Given the description of an element on the screen output the (x, y) to click on. 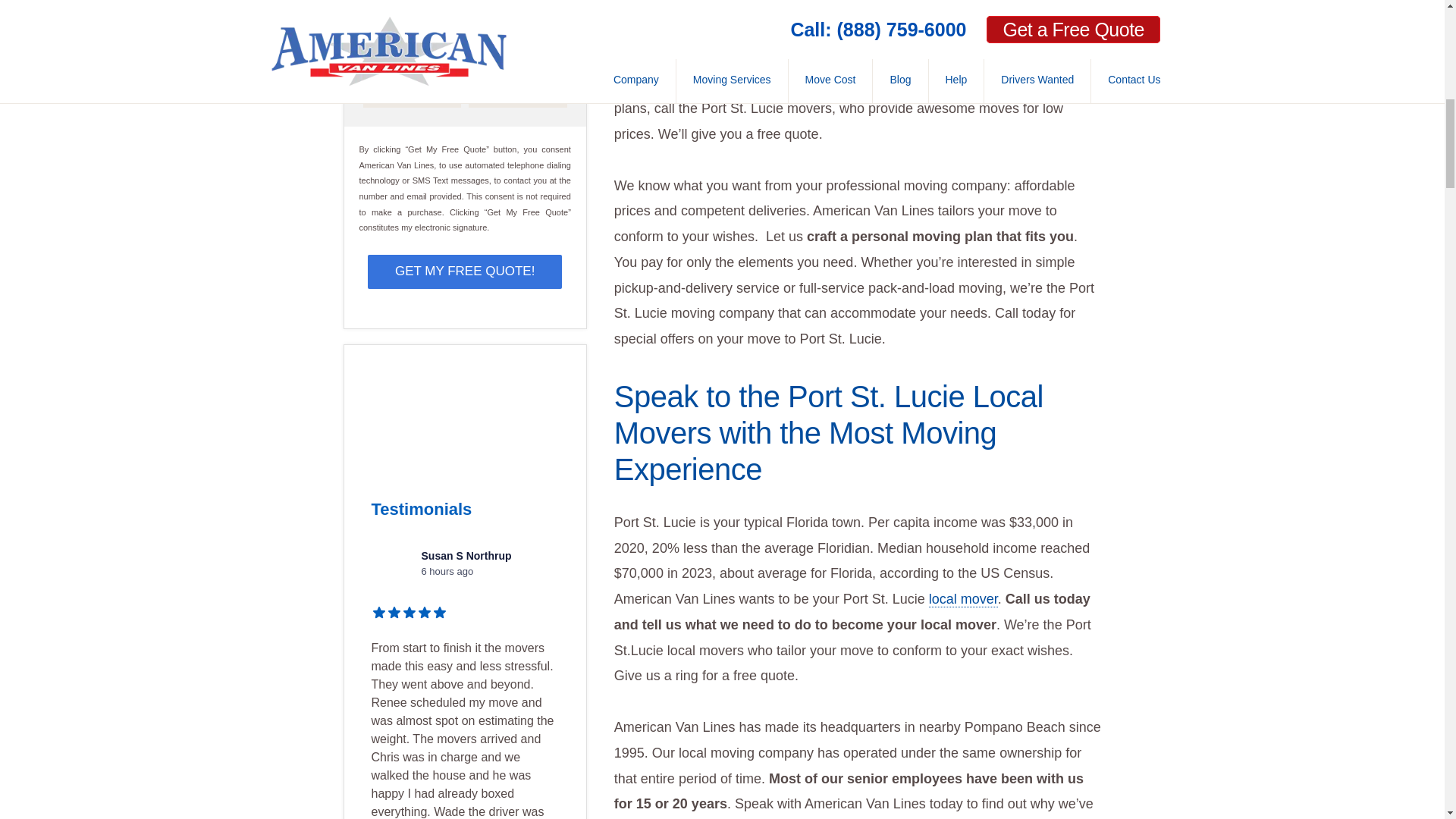
GET MY FREE QUOTE! (464, 271)
Susan S Northrup (392, 568)
